Given the description of an element on the screen output the (x, y) to click on. 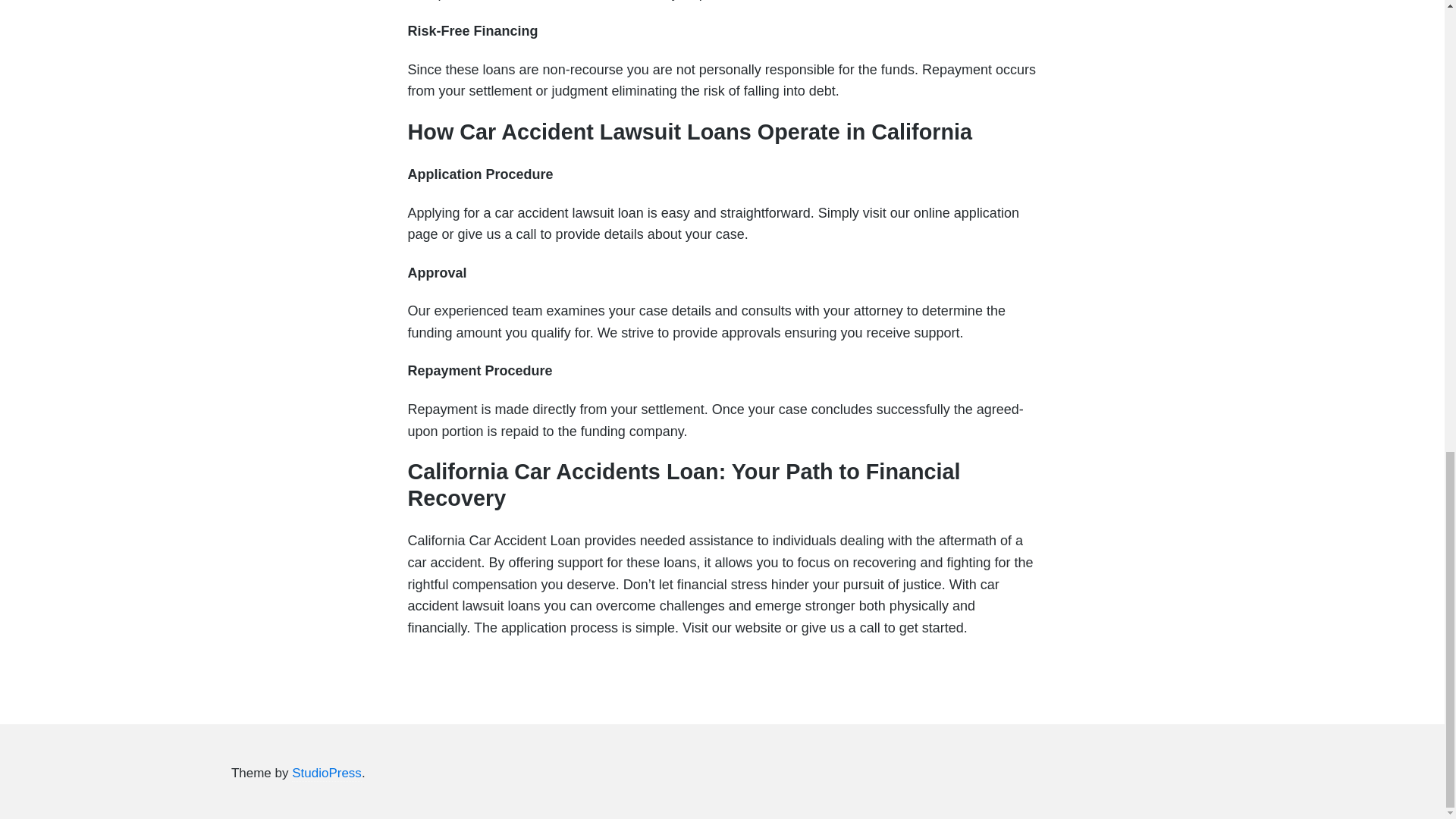
StudioPress (326, 773)
